Given the description of an element on the screen output the (x, y) to click on. 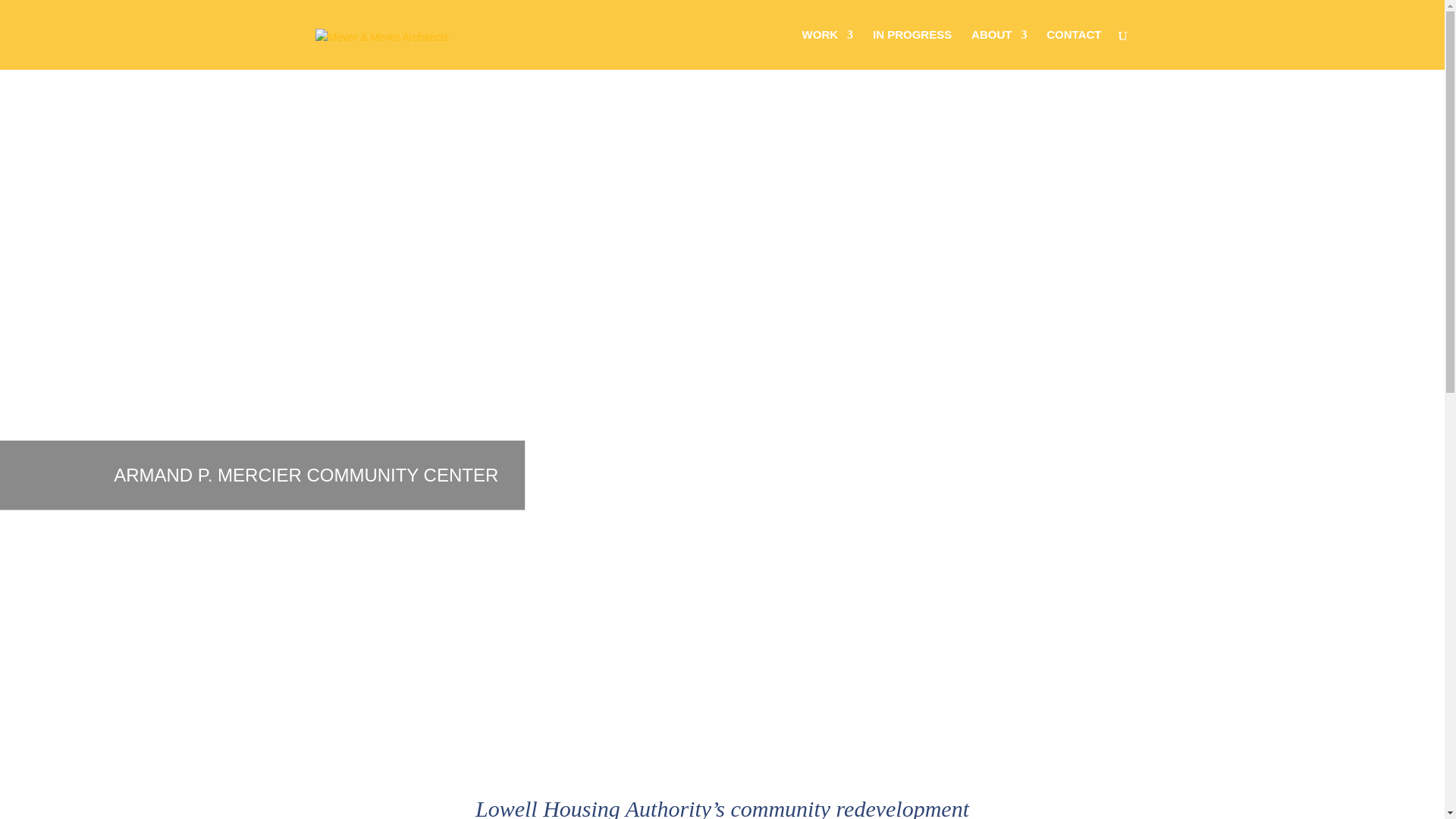
ABOUT (998, 49)
WORK (827, 49)
ARMAND P. MERCIER COMMUNITY CENTER (127, 463)
CONTACT (1073, 49)
IN PROGRESS (912, 49)
